Given the description of an element on the screen output the (x, y) to click on. 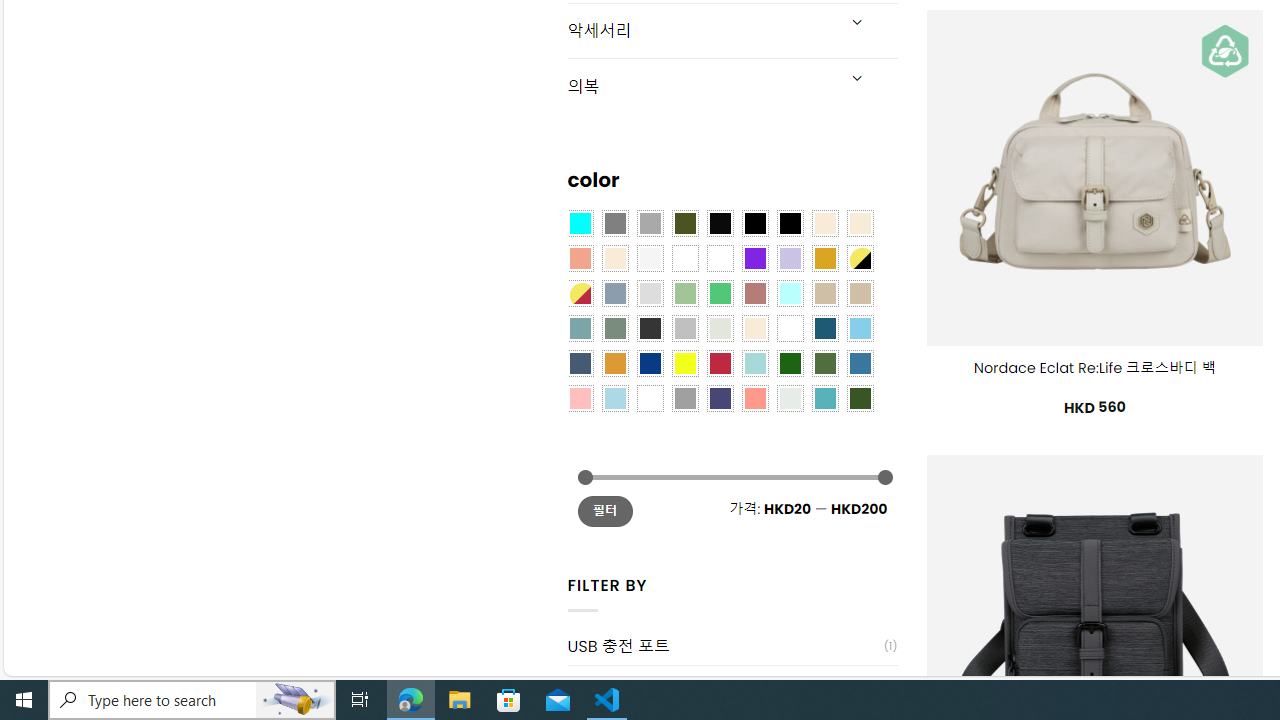
Purple (755, 257)
